Given the description of an element on the screen output the (x, y) to click on. 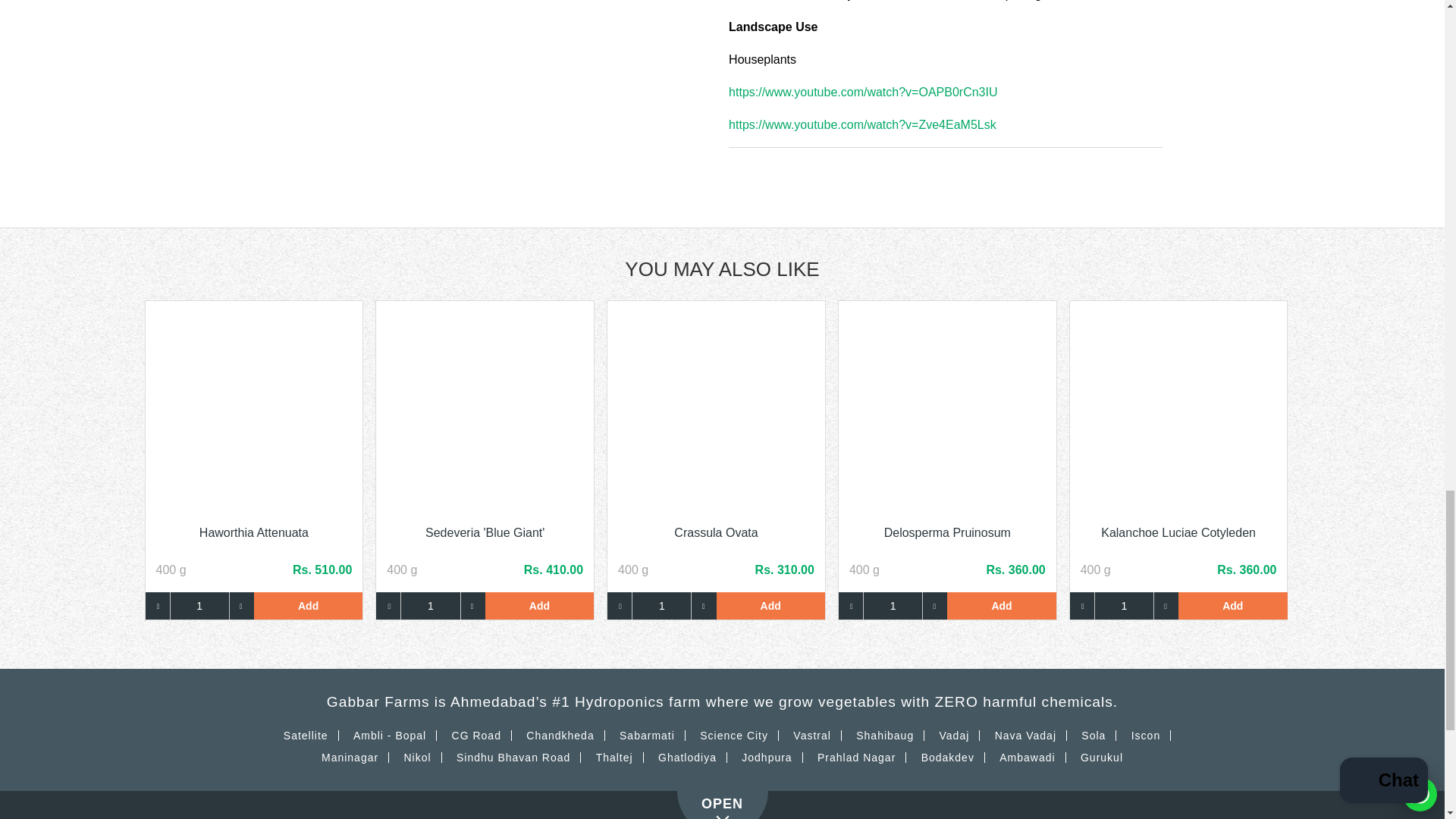
Add (1001, 605)
1 (661, 605)
1 (893, 605)
1 (1124, 605)
Add (1232, 605)
Add (307, 605)
1 (430, 605)
1 (200, 605)
Add (770, 605)
Add (539, 605)
